Given the description of an element on the screen output the (x, y) to click on. 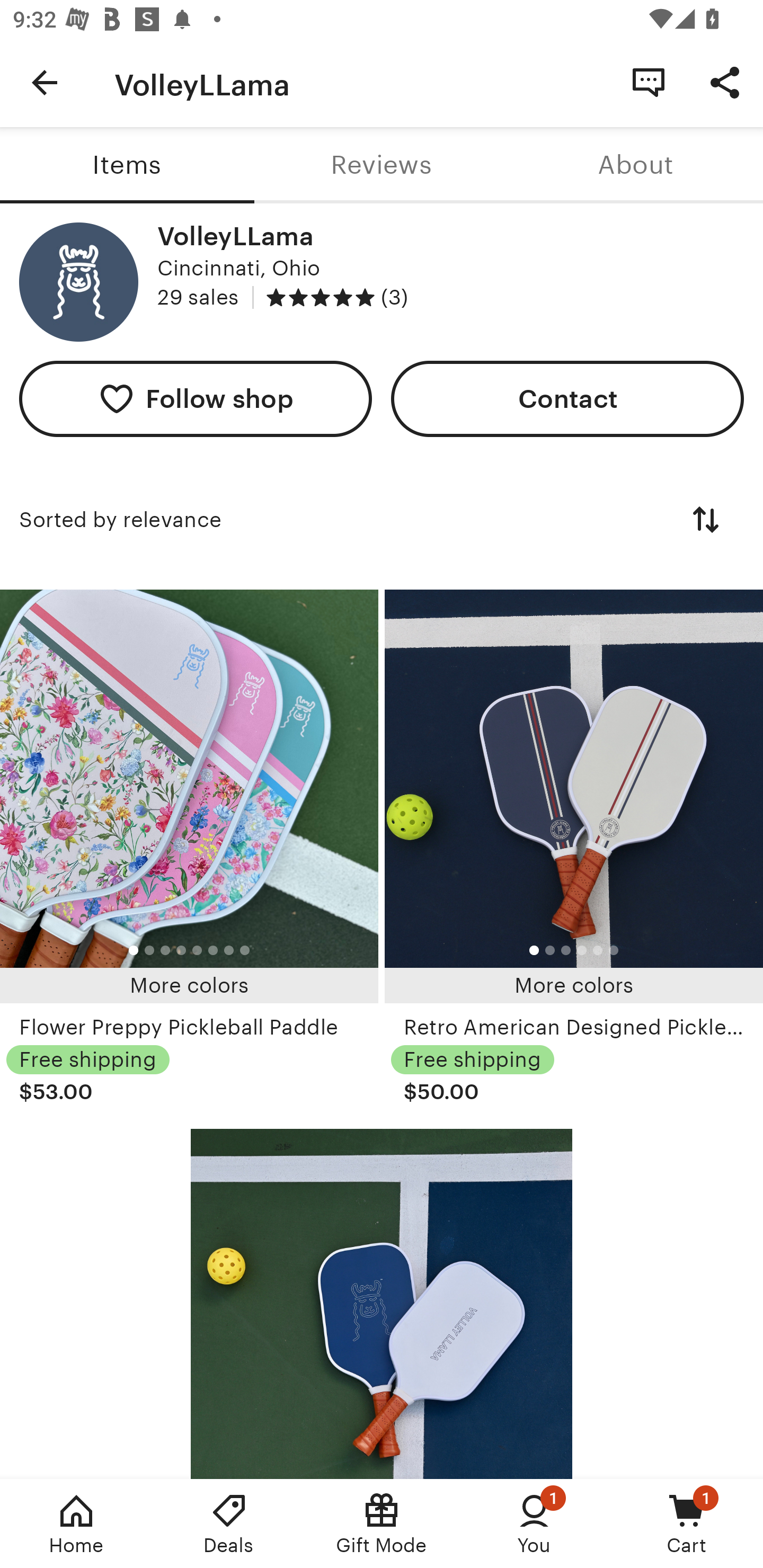
Navigate up (44, 82)
Contact Shop (648, 81)
Share (724, 81)
Reviews (381, 165)
About (635, 165)
Follow shop (195, 398)
Contact (566, 398)
Home (76, 1523)
Deals (228, 1523)
Gift Mode (381, 1523)
You, 1 new notification You (533, 1523)
